Given the description of an element on the screen output the (x, y) to click on. 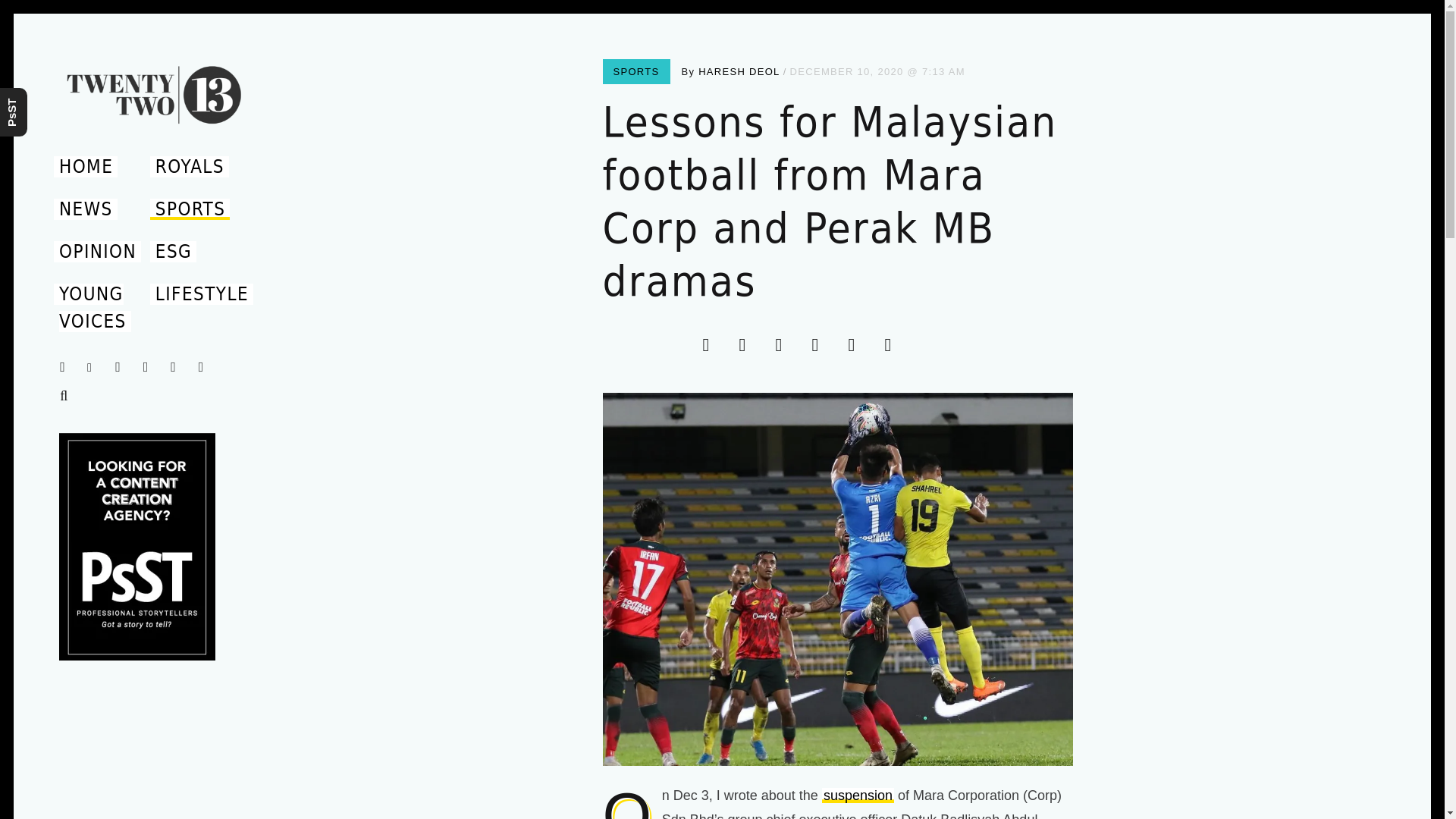
SPORTS (189, 209)
Facebook (711, 343)
ROYALS (188, 166)
HOME (85, 166)
Copy Link (893, 343)
YOUNG VOICES (92, 307)
SPORTS (635, 71)
LinkedIn (783, 343)
suspension (857, 795)
OPINION (97, 251)
